Given the description of an element on the screen output the (x, y) to click on. 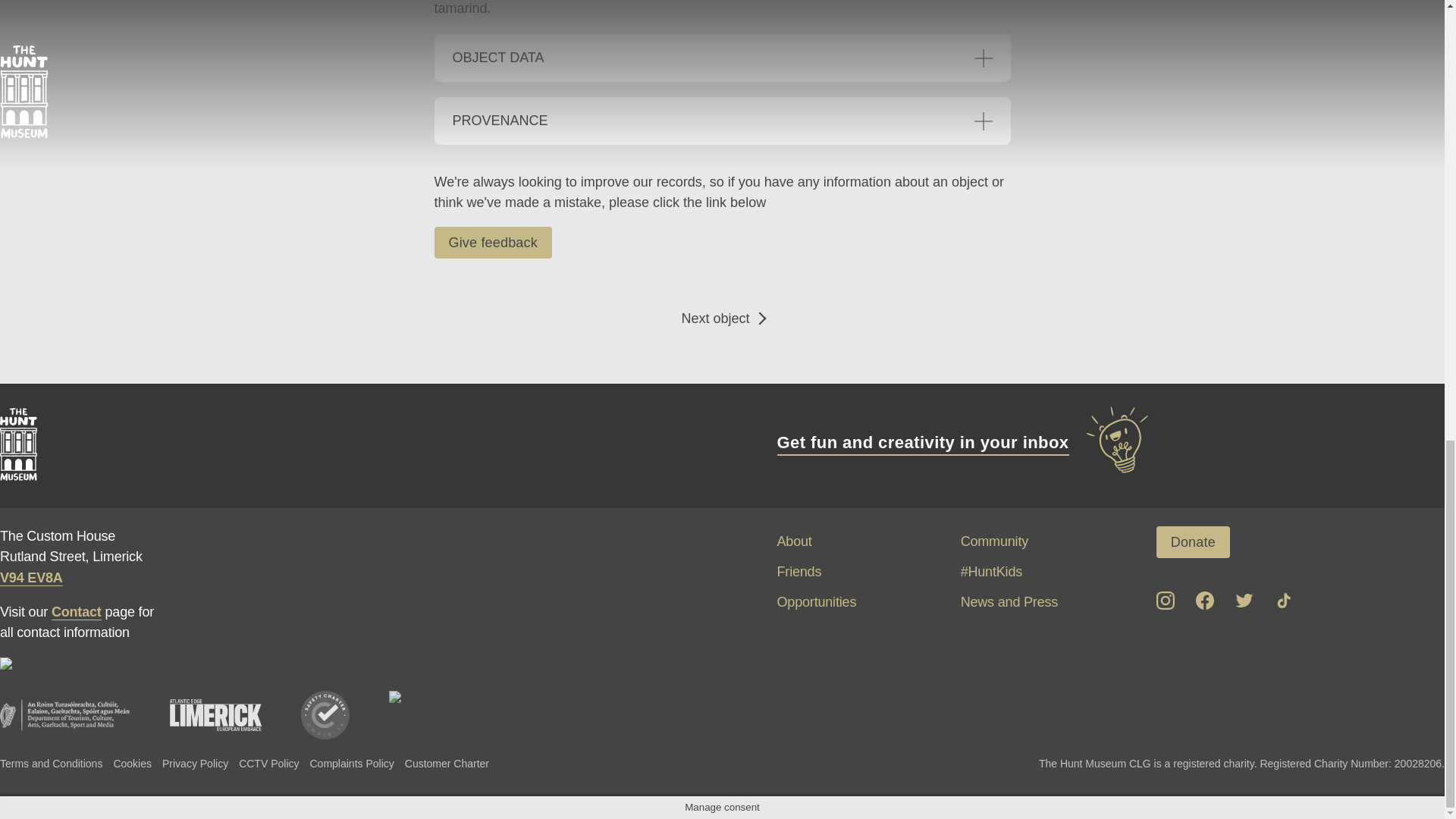
V94 EV8A (31, 578)
Customer Charter (446, 763)
Next object (721, 318)
News and Press (1009, 601)
Get fun and creativity in your inbox (963, 442)
Opportunities (816, 601)
Give feedback (492, 242)
Privacy Policy (194, 763)
CCTV Policy (268, 763)
Community (993, 541)
